Given the description of an element on the screen output the (x, y) to click on. 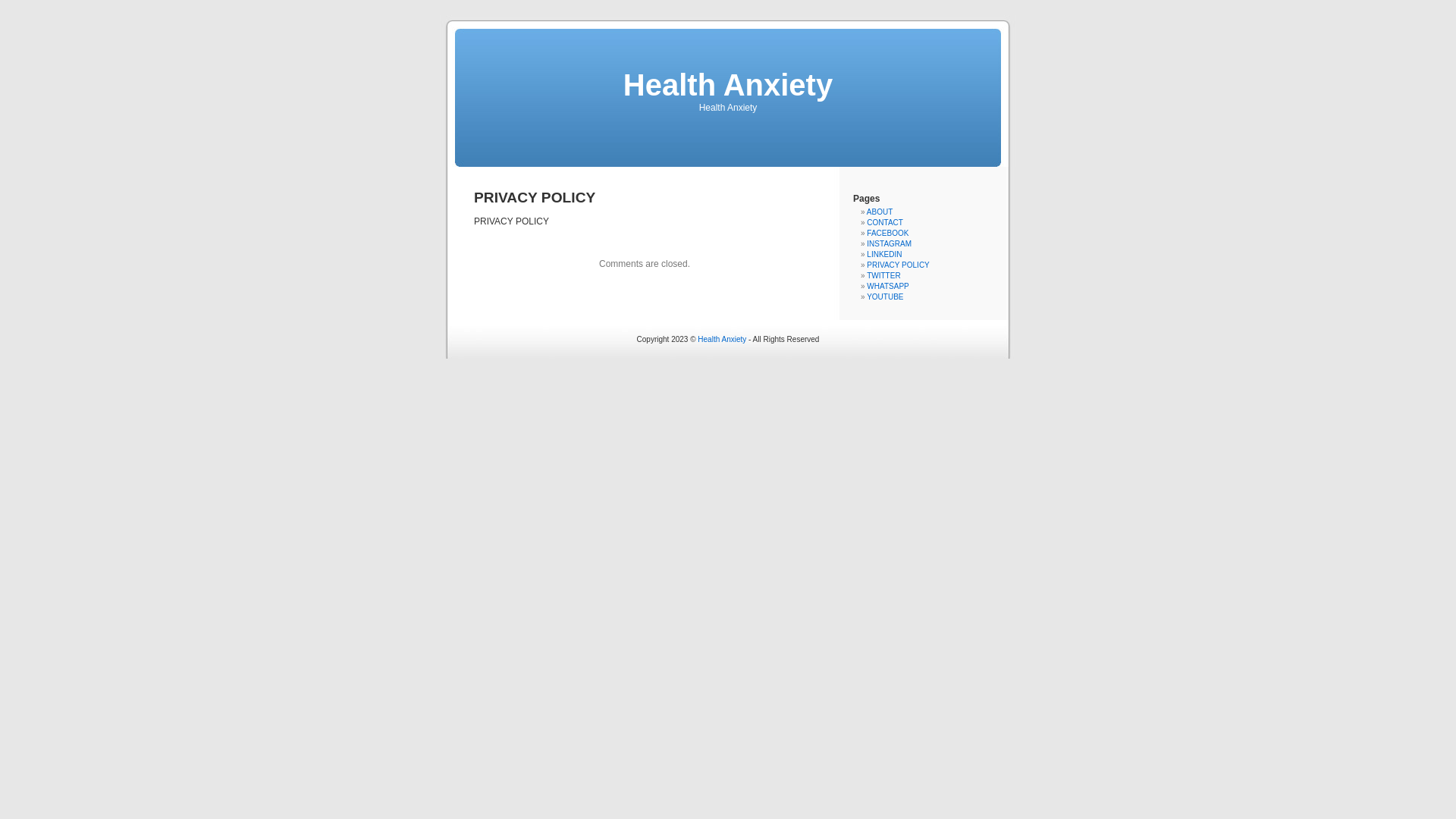
FACEBOOK Element type: text (887, 233)
Health Anxiety Element type: text (727, 84)
LINKEDIN Element type: text (883, 254)
ABOUT Element type: text (879, 211)
Health Anxiety Element type: text (721, 339)
WHATSAPP Element type: text (887, 286)
TWITTER Element type: text (883, 275)
INSTAGRAM Element type: text (888, 243)
PRIVACY POLICY Element type: text (897, 264)
CONTACT Element type: text (884, 222)
YOUTUBE Element type: text (884, 296)
